Given the description of an element on the screen output the (x, y) to click on. 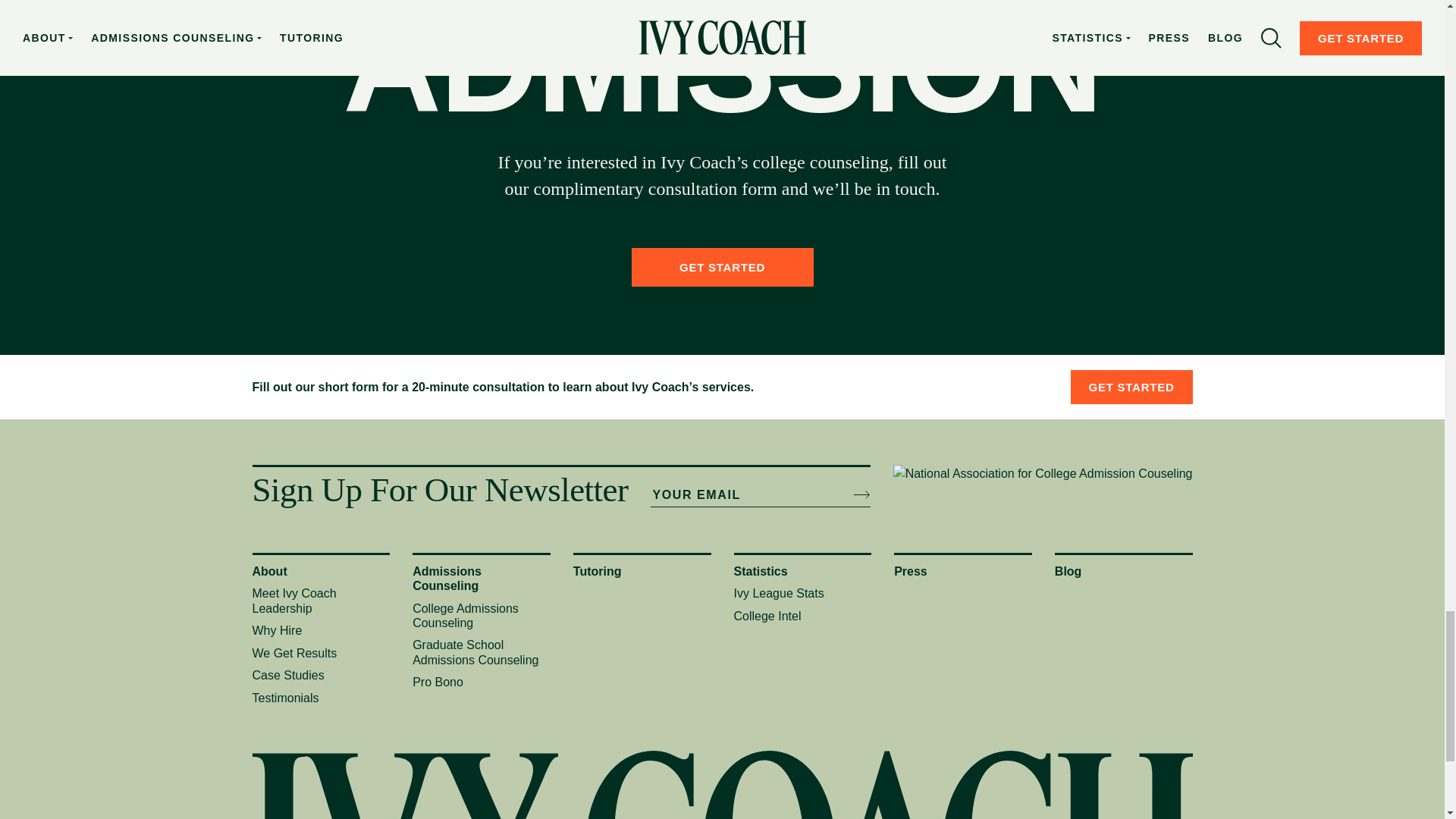
Meet Ivy Coach Leadership (293, 600)
GET STARTED (721, 267)
About (268, 571)
Why Hire (276, 630)
